Given the description of an element on the screen output the (x, y) to click on. 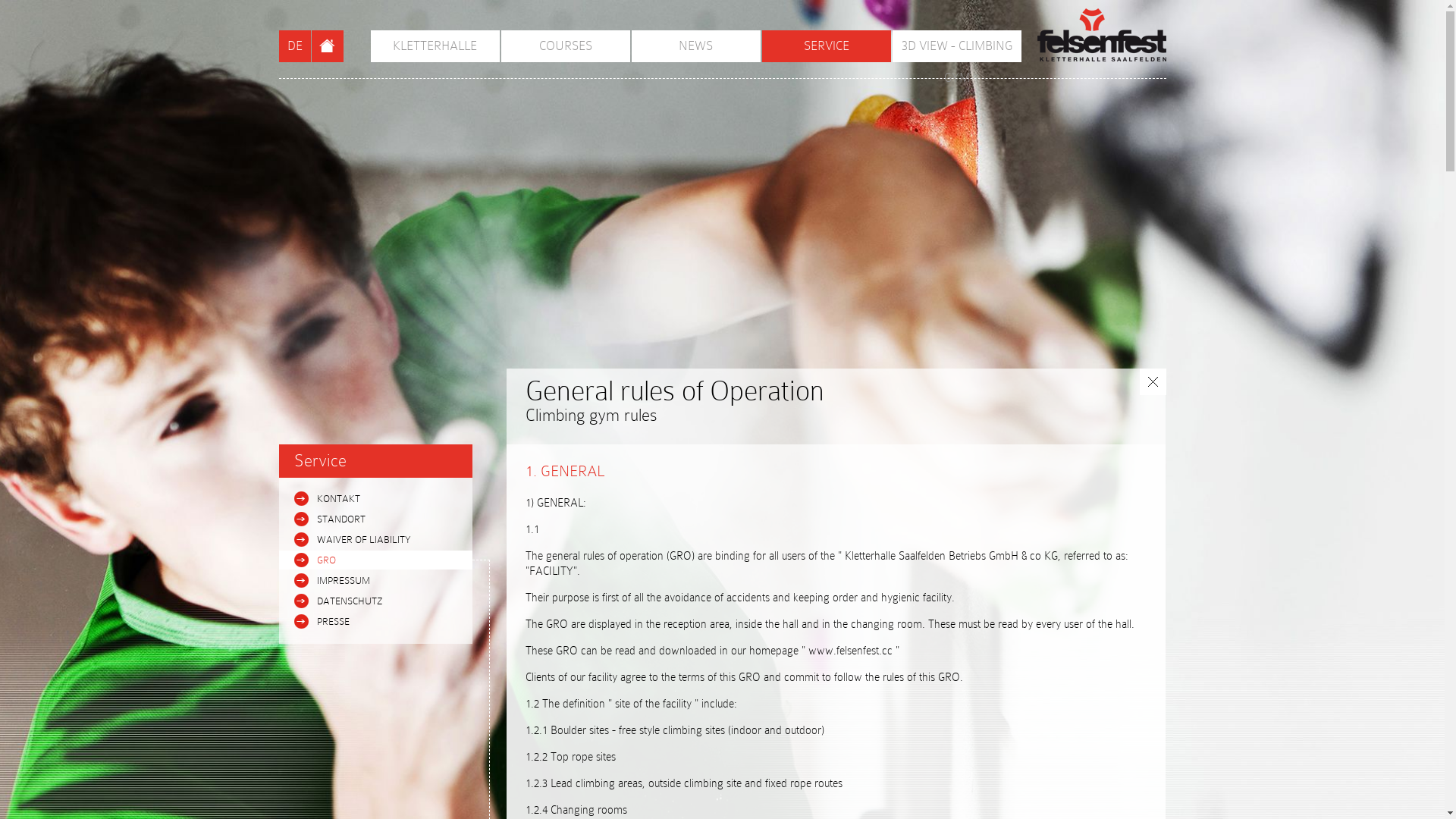
DE Element type: text (294, 46)
NEWS Element type: text (694, 46)
STANDORT Element type: text (375, 518)
KLETTERHALLE Element type: text (434, 46)
WAIVER OF LIABILITY Element type: text (375, 539)
DATENSCHUTZ Element type: text (375, 600)
3D VIEW - CLIMBING GYM Element type: text (955, 46)
KONTAKT Element type: text (375, 498)
toggle content Element type: text (1152, 381)
COURSES Element type: text (564, 46)
GRO Element type: text (375, 559)
SERVICE Element type: text (825, 46)
HOME Element type: text (326, 46)
Felsenfest Element type: hover (1101, 34)
PRESSE Element type: text (375, 620)
IMPRESSUM Element type: text (375, 580)
